Given the description of an element on the screen output the (x, y) to click on. 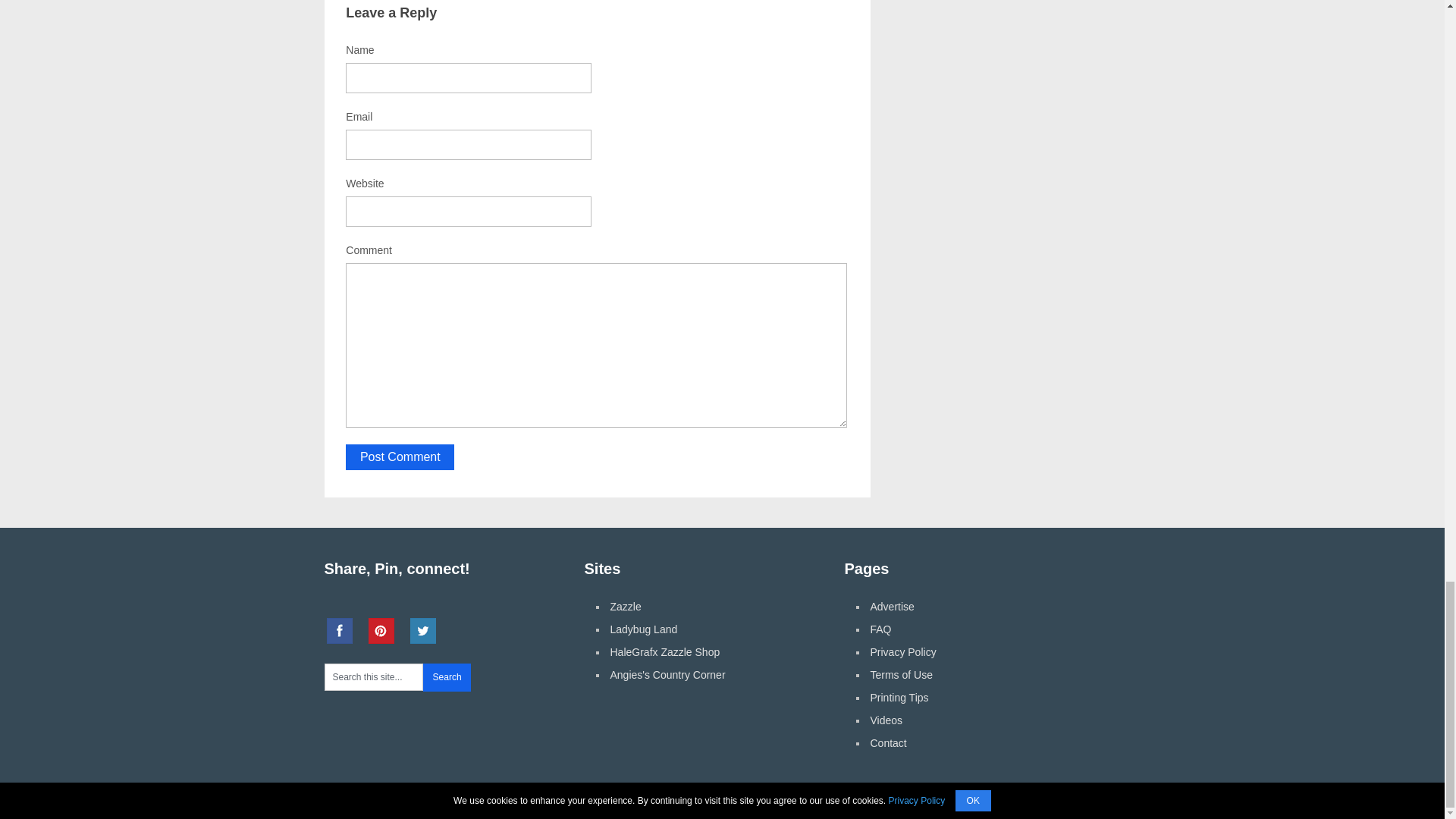
Search this site... (373, 677)
Post Comment (400, 457)
Search (446, 677)
Post Comment (400, 457)
